Given the description of an element on the screen output the (x, y) to click on. 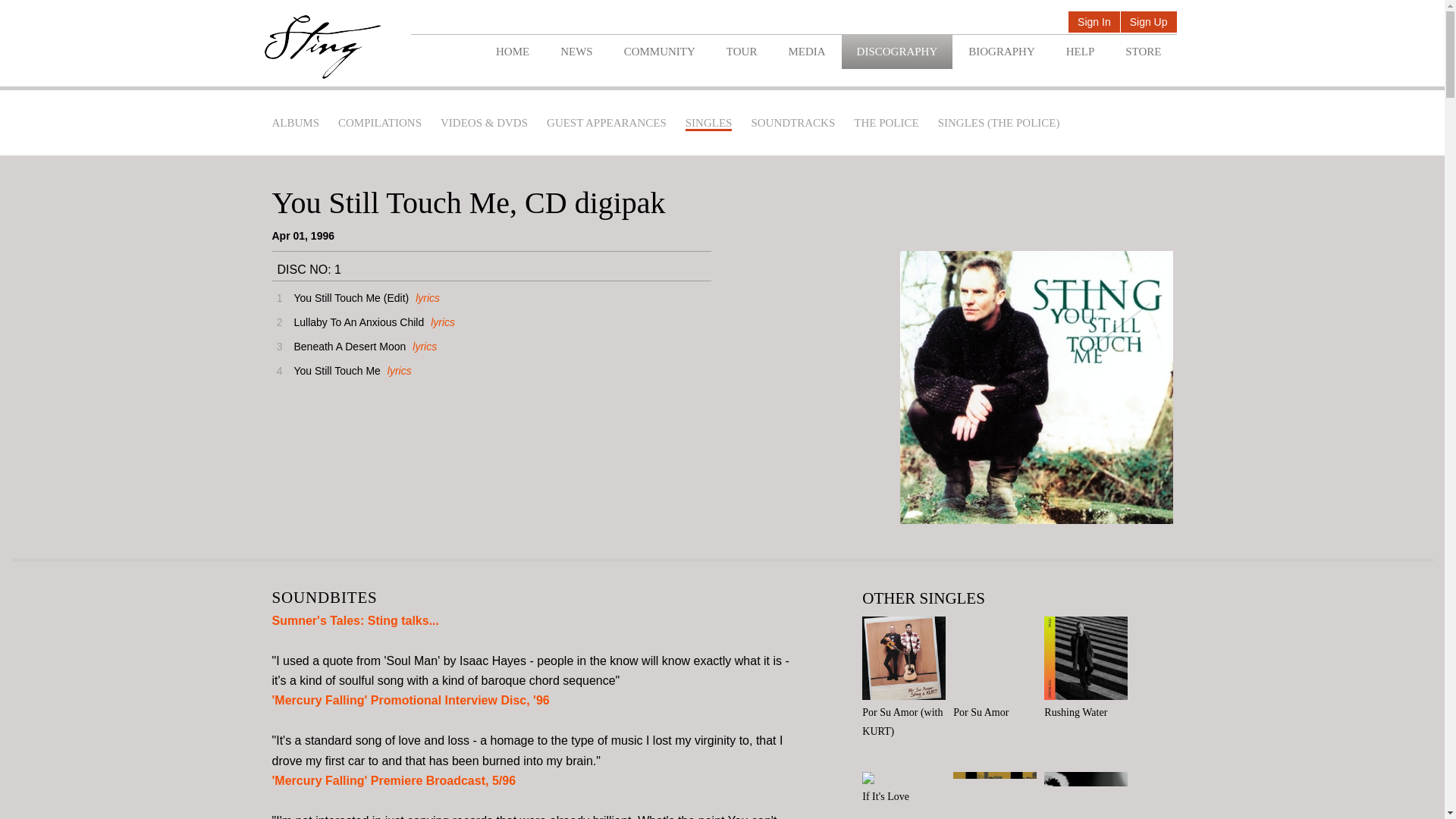
If It's Love (907, 789)
NEWS (576, 51)
lyrics (425, 297)
HELP (1080, 51)
COMMUNITY (659, 51)
MEDIA (806, 51)
Sign Up (1148, 22)
TOUR (742, 51)
ALBUMS (294, 122)
BIOGRAPHY (1001, 51)
Sign In (1093, 22)
DISCOGRAPHY (897, 51)
lyrics (398, 370)
COMPILATIONS (379, 122)
SOUNDTRACKS (792, 122)
